Given the description of an element on the screen output the (x, y) to click on. 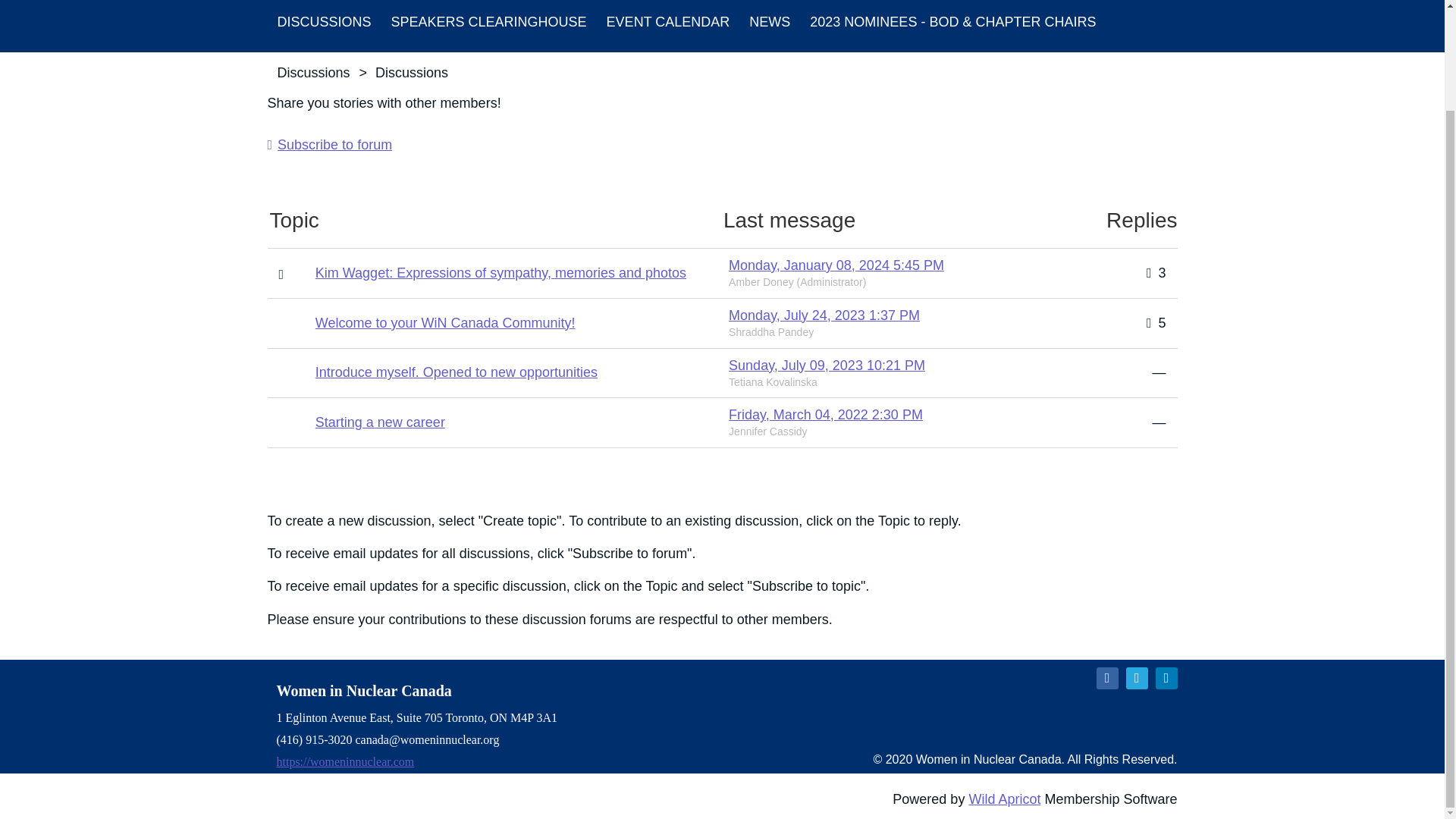
Monday, January 08, 2024 5:45 PM (836, 264)
Kim Wagget: Expressions of sympathy, memories and photos (500, 272)
Discussions (323, 26)
Facebook (1107, 678)
SPEAKERS CLEARINGHOUSE (488, 26)
DISCUSSIONS (323, 26)
Twitter (1136, 678)
EVENT CALENDAR (667, 26)
Sunday, July 09, 2023 10:21 PM (826, 365)
Speakers Clearinghouse (488, 26)
